Given the description of an element on the screen output the (x, y) to click on. 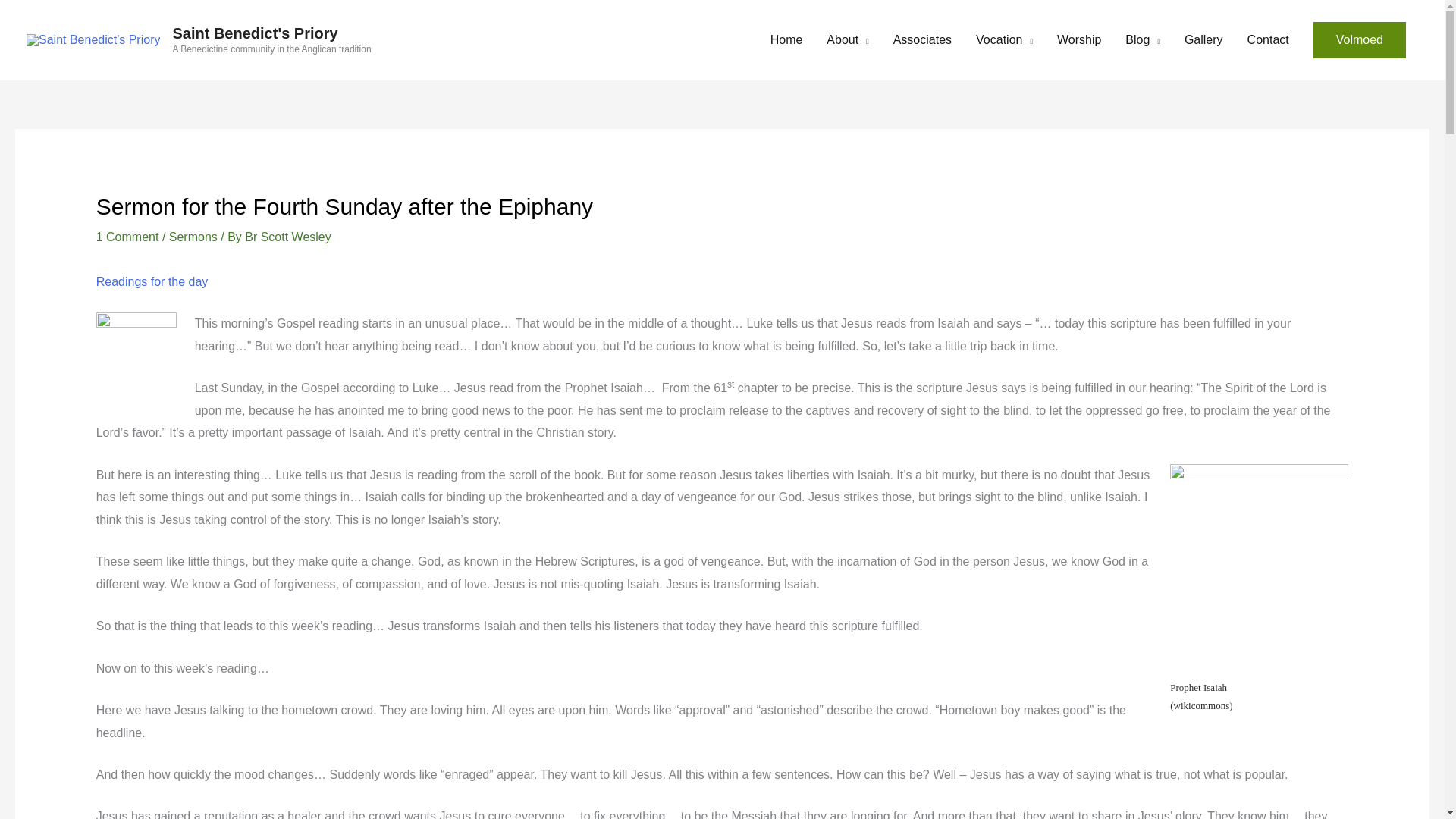
Sermons (192, 236)
Blog (1142, 39)
About (846, 39)
Volmoed (1359, 40)
Gallery (1203, 39)
Home (786, 39)
Saint Benedict's Priory (254, 33)
Contact (1267, 39)
Br Scott Wesley (287, 236)
Worship (1079, 39)
1 Comment (127, 236)
View all posts by Br Scott Wesley (287, 236)
Readings for the day (152, 281)
Associates (921, 39)
Vocation (1004, 39)
